Given the description of an element on the screen output the (x, y) to click on. 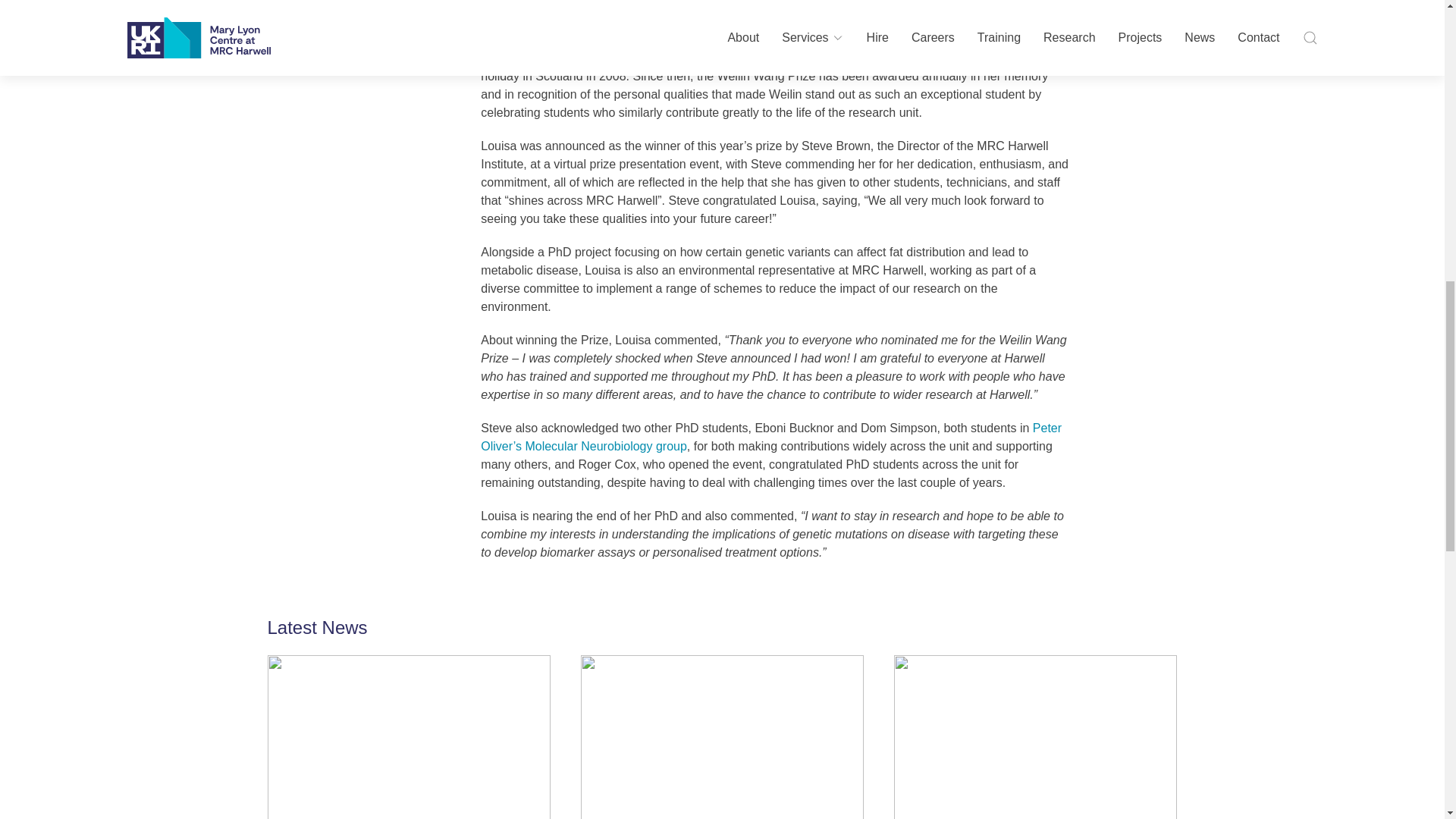
Read Full Dr Sara Wells, MBE! Story (706, 737)
